Given the description of an element on the screen output the (x, y) to click on. 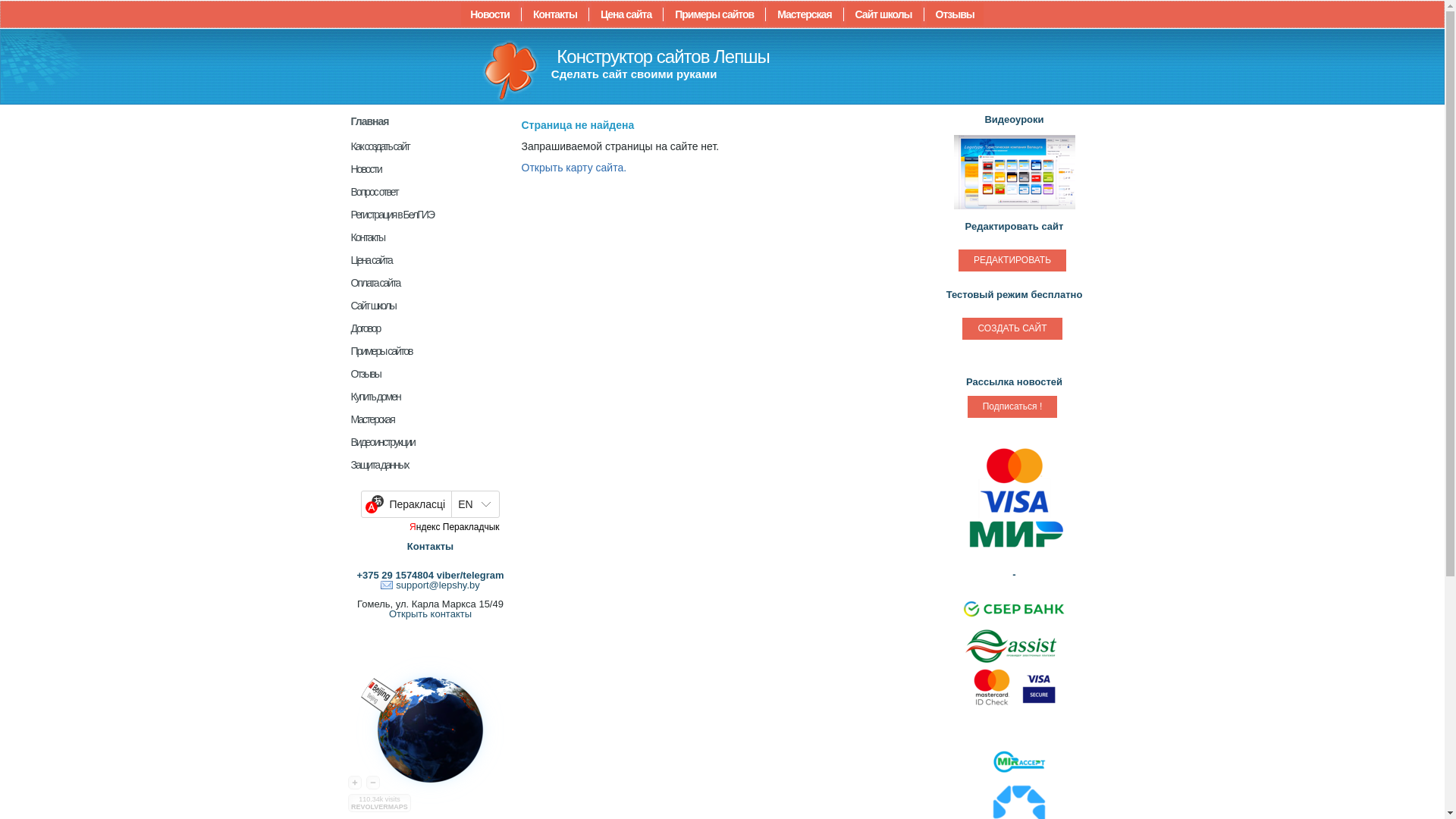
+375 29 1574804 viber/telegram Element type: text (429, 574)
support@lepshy.by Element type: text (430, 584)
